Given the description of an element on the screen output the (x, y) to click on. 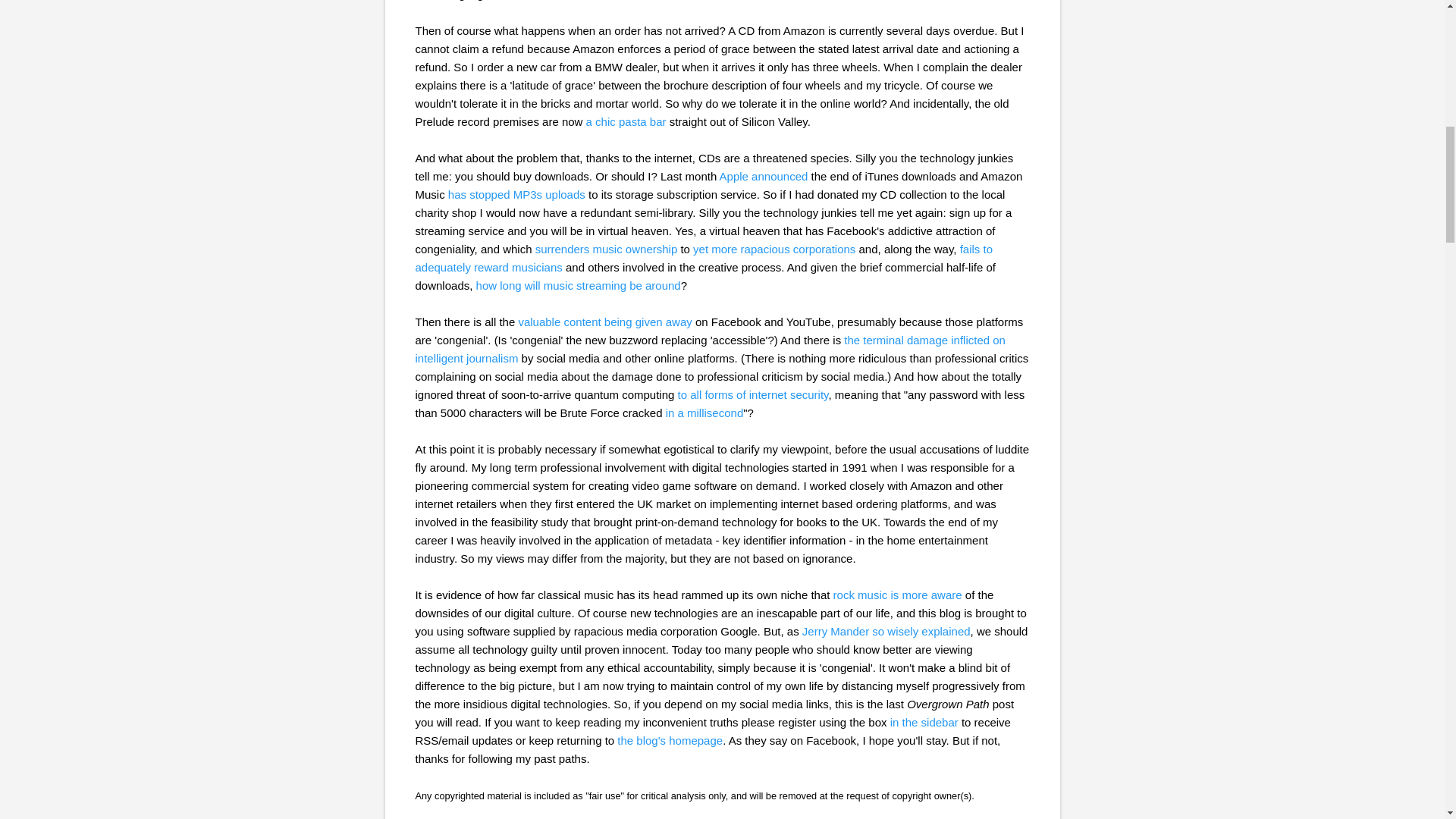
yet more rapacious corporations (773, 248)
a chic pasta bar (626, 121)
surrenders music ownership (606, 248)
Apple announced (763, 175)
the blog's homepage (669, 739)
valuable content being given away (604, 321)
the terminal damage inflicted on intelligent journalism (710, 348)
in the sidebar (923, 721)
rock music is more aware (897, 594)
has stopped MP3s uploads (516, 194)
fails to adequately reward musicians (703, 257)
to all forms of internet security (753, 394)
Jerry Mander so wisely explained (886, 631)
how long will music streaming be around (578, 285)
